Given the description of an element on the screen output the (x, y) to click on. 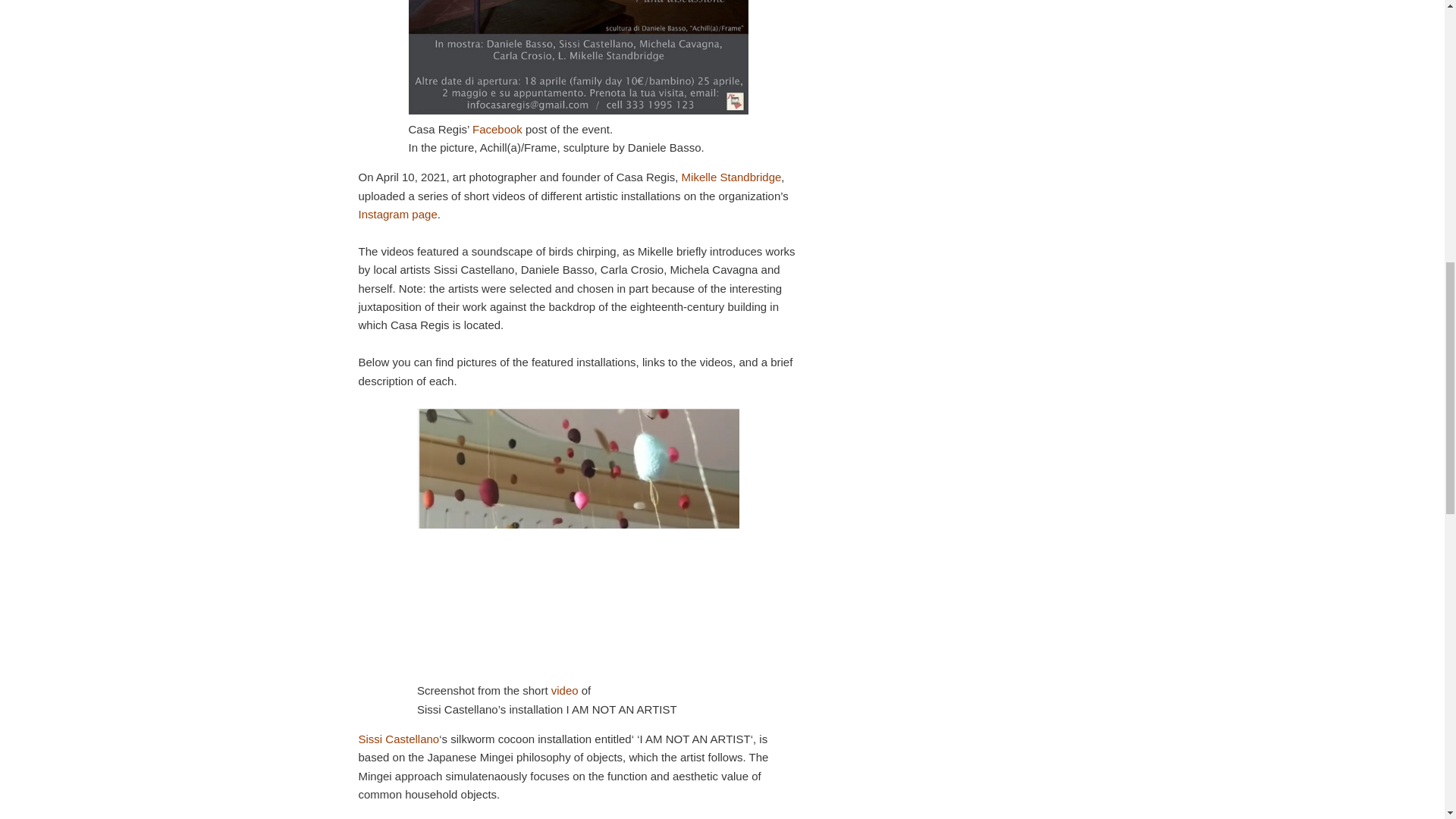
Facebook (498, 128)
video (564, 689)
Instagram page (397, 214)
Mikelle Standbridge (731, 176)
Sissi Castellano (398, 738)
